Given the description of an element on the screen output the (x, y) to click on. 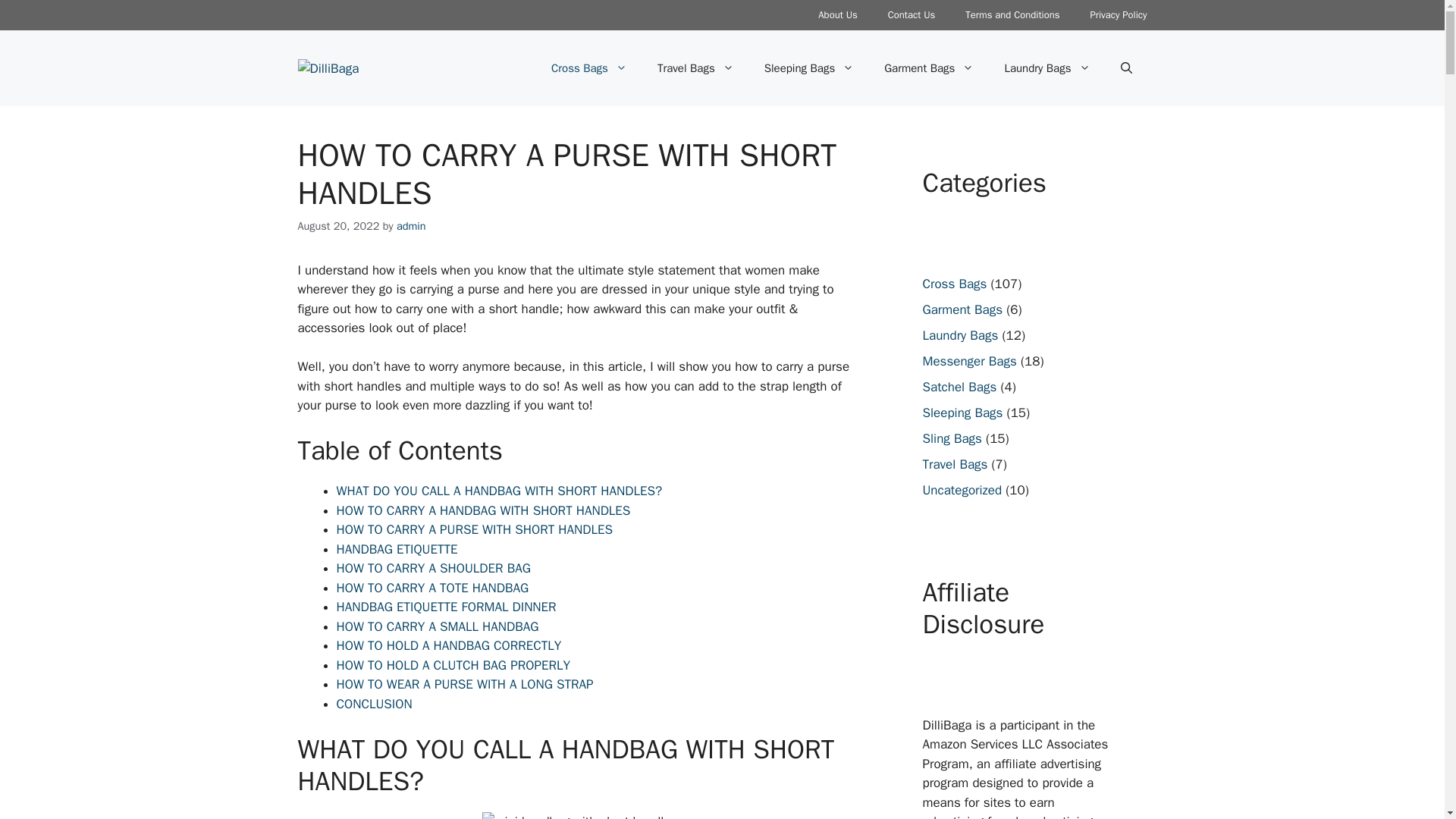
Privacy Policy (1117, 15)
Contact Us (911, 15)
HOW TO CARRY A PURSE WITH SHORT HANDLES 1 (579, 815)
About Us (837, 15)
Cross Bags (588, 67)
Terms and Conditions (1012, 15)
View all posts by admin (411, 225)
